Given the description of an element on the screen output the (x, y) to click on. 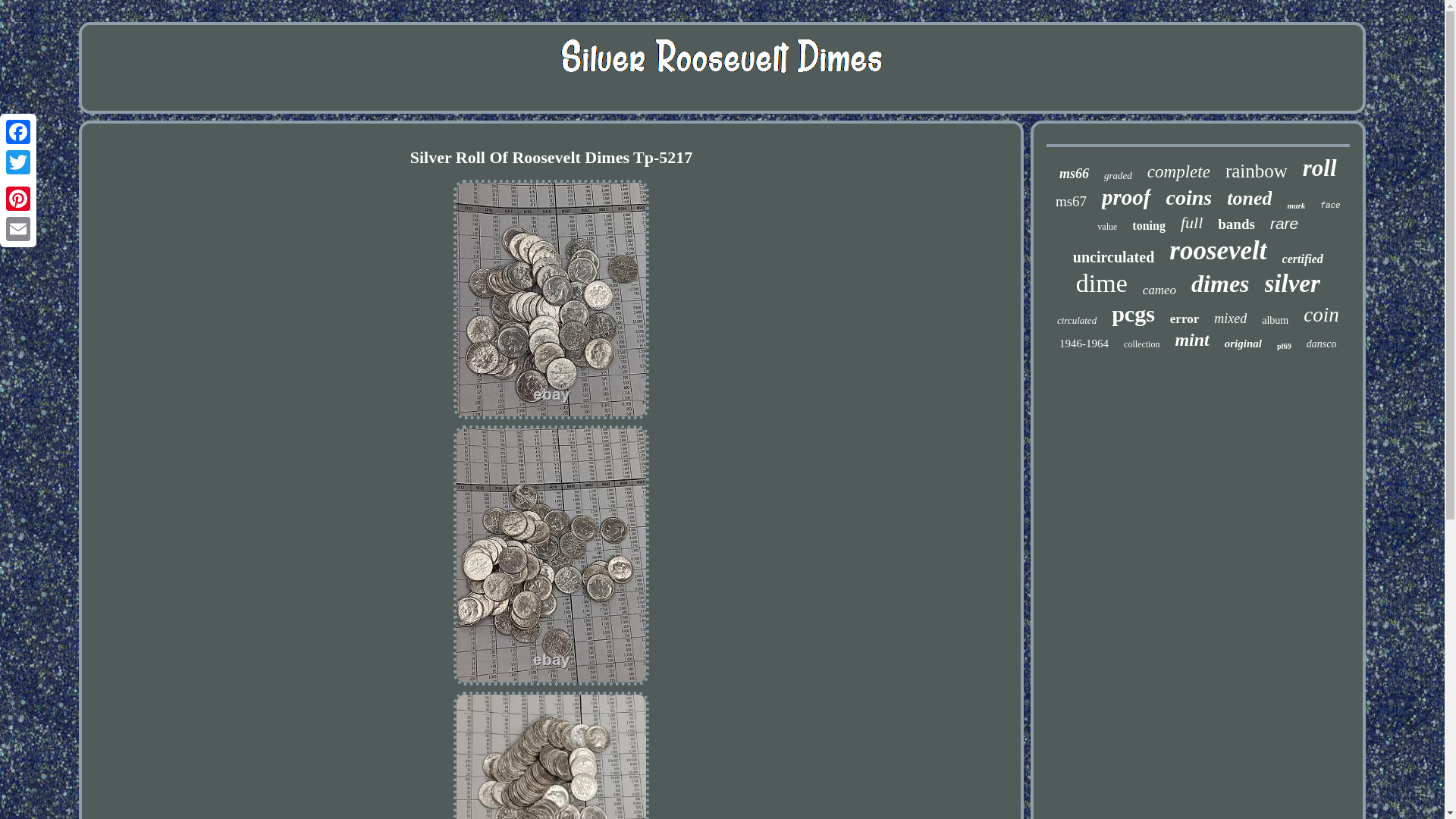
roll (1319, 167)
rare (1283, 223)
ms66 (1074, 173)
proof (1126, 197)
Email (17, 228)
full (1191, 222)
Silver Roll Of Roosevelt Dimes Tp-5217 (550, 755)
error (1184, 319)
mark (1295, 204)
dimes (1220, 284)
